Given the description of an element on the screen output the (x, y) to click on. 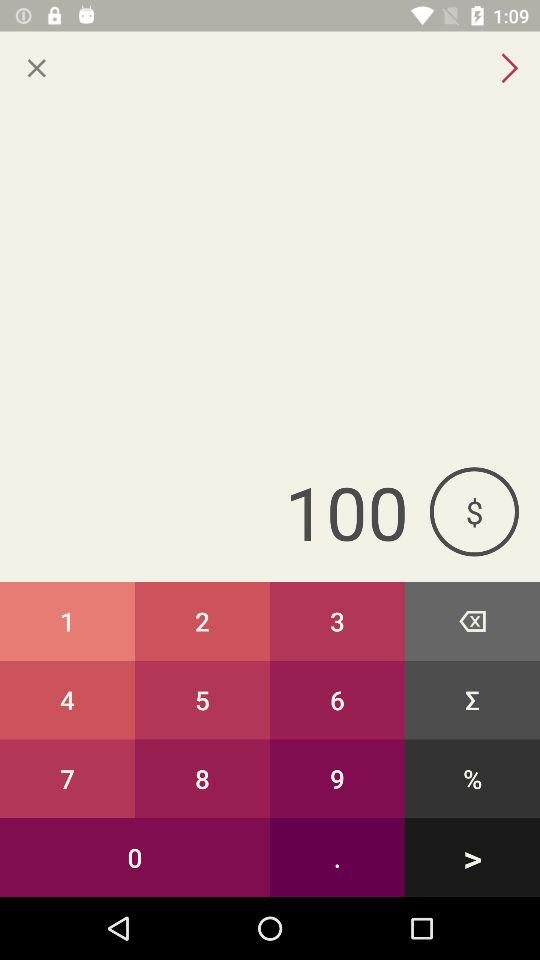
select the 4 button (67, 699)
